Given the description of an element on the screen output the (x, y) to click on. 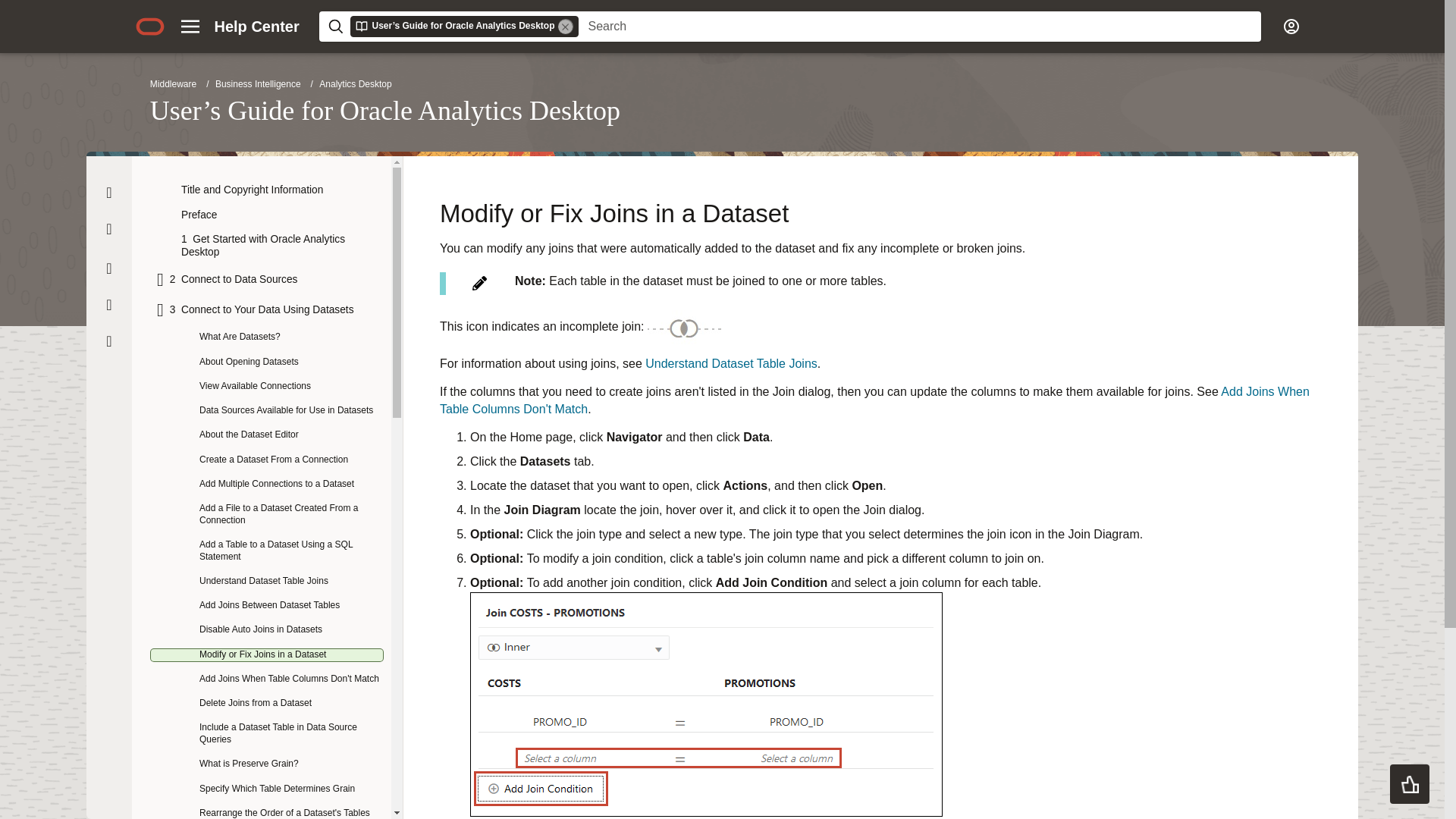
Close (109, 192)
Download PDF (109, 304)
Incomplete or Broken Join Icon (683, 326)
Table of Contents (109, 267)
Share on Social Media (109, 340)
Expand All (108, 228)
